Given the description of an element on the screen output the (x, y) to click on. 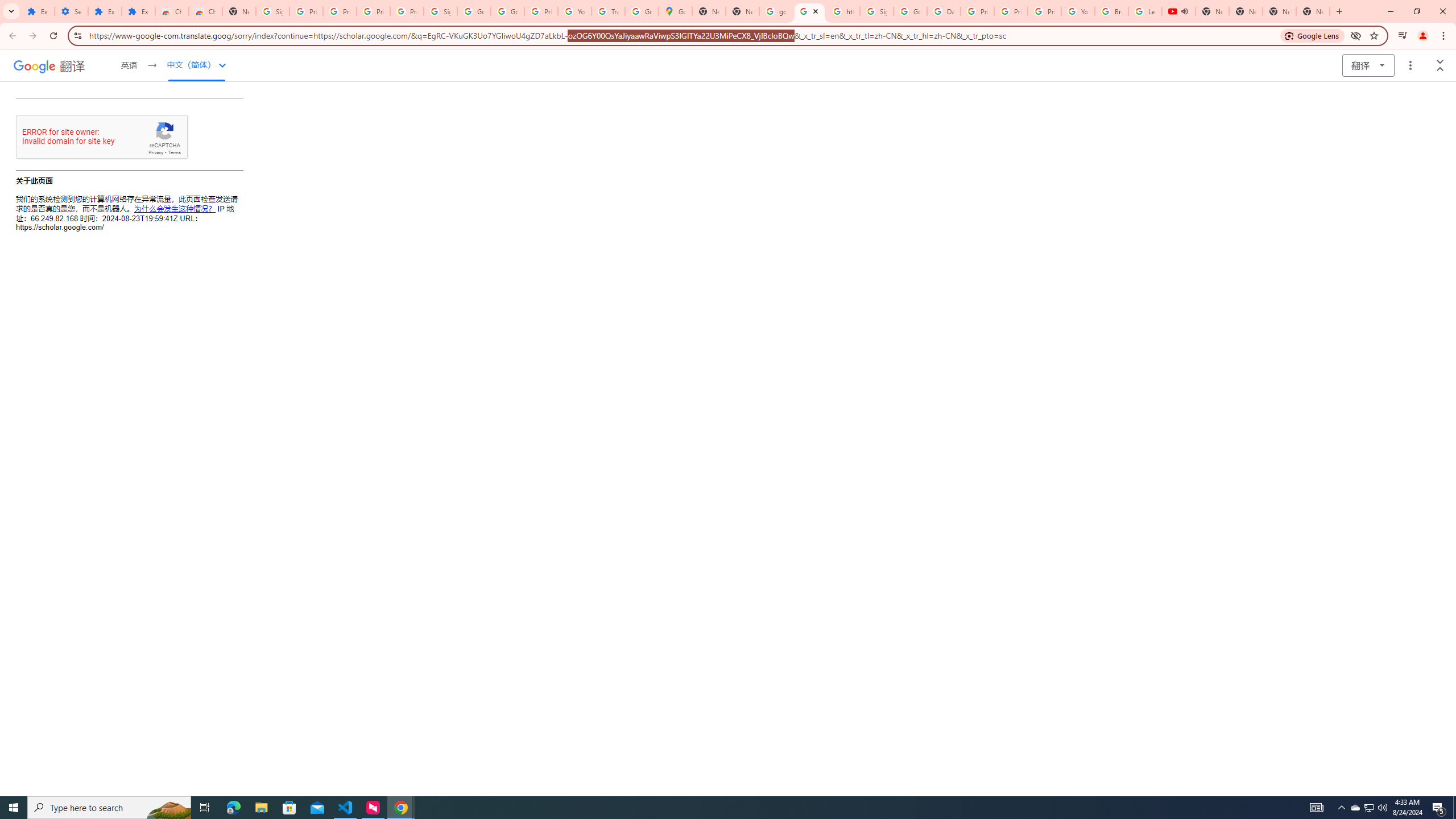
Sign in - Google Accounts (441, 11)
YouTube (1077, 11)
Google Maps (675, 11)
Sign in - Google Accounts (876, 11)
https://scholar.google.com/ (842, 11)
